Given the description of an element on the screen output the (x, y) to click on. 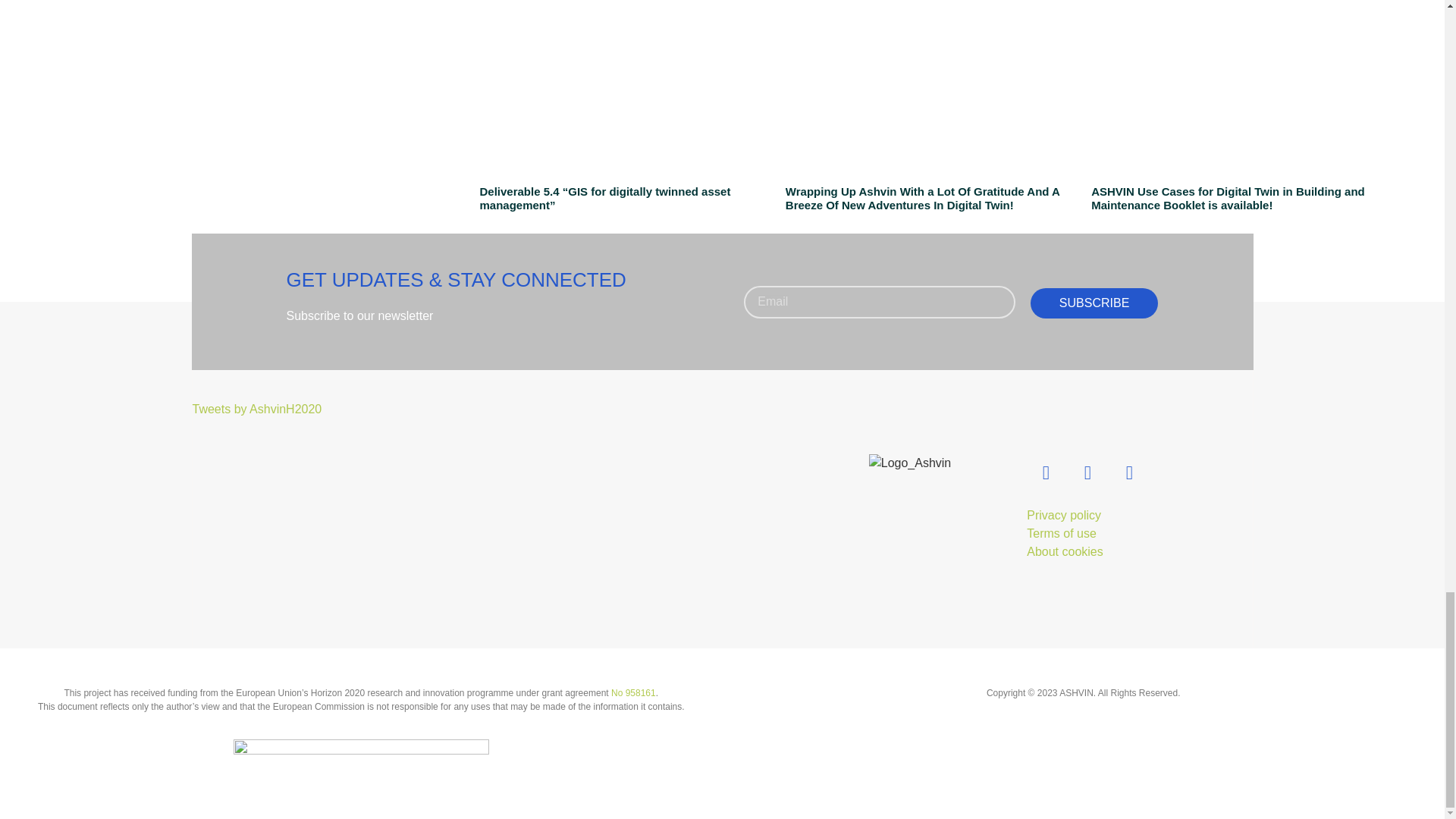
SUBSCRIBE (1094, 303)
No 958161 (633, 692)
Privacy policy (1063, 514)
Terms of use (1061, 533)
About cookies (1064, 551)
Tweets by AshvinH2020 (256, 408)
